Given the description of an element on the screen output the (x, y) to click on. 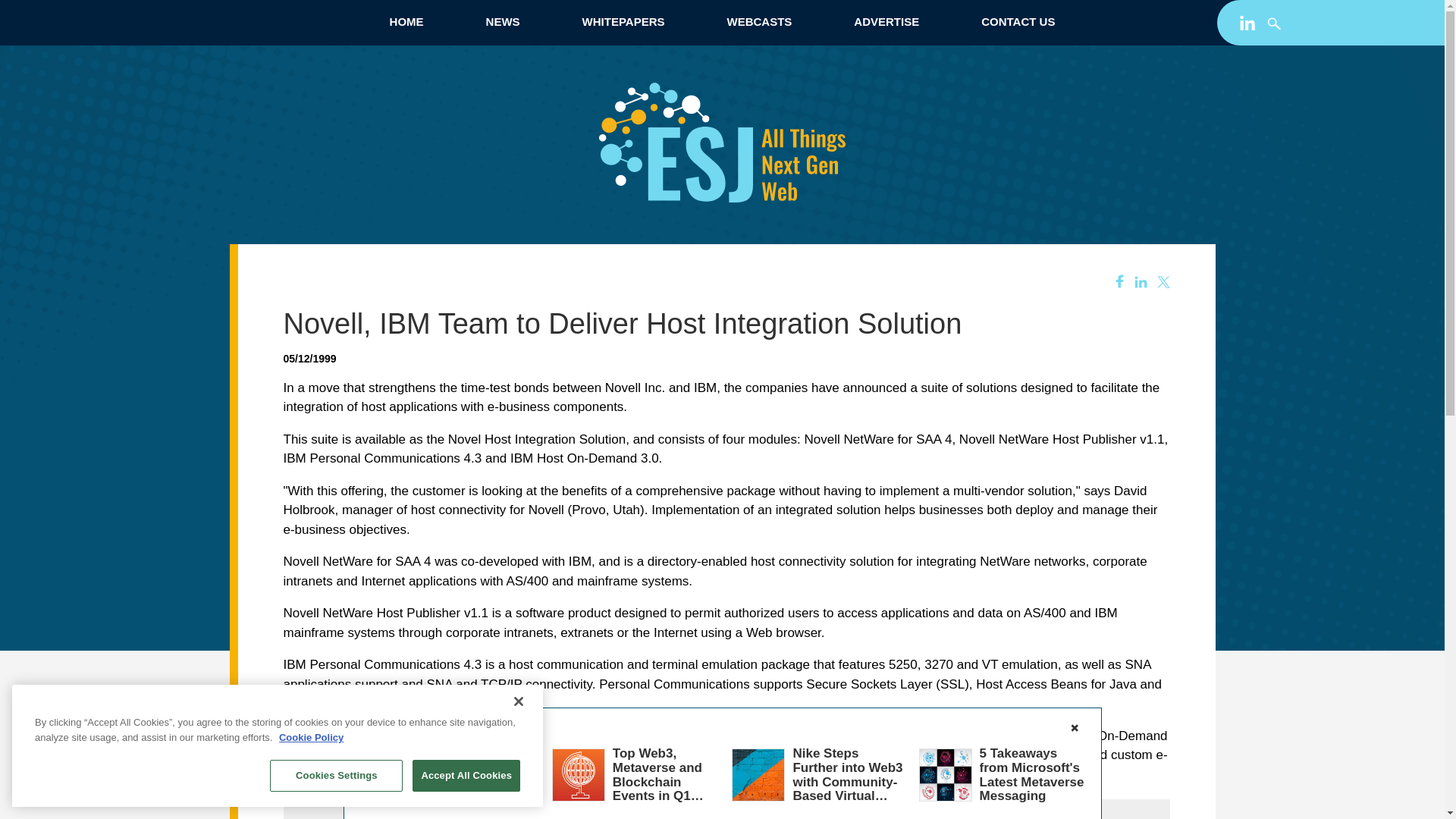
HOME (406, 21)
5 Takeaways from Microsoft's Latest Metaverse Messaging (1031, 774)
ADVERTISE (886, 21)
WHITEPAPERS (622, 21)
CONTACT US (1017, 21)
Top Web3, Metaverse and Blockchain Events in Q1 2023 (657, 781)
WEBCASTS (758, 21)
NEWS (502, 21)
